Given the description of an element on the screen output the (x, y) to click on. 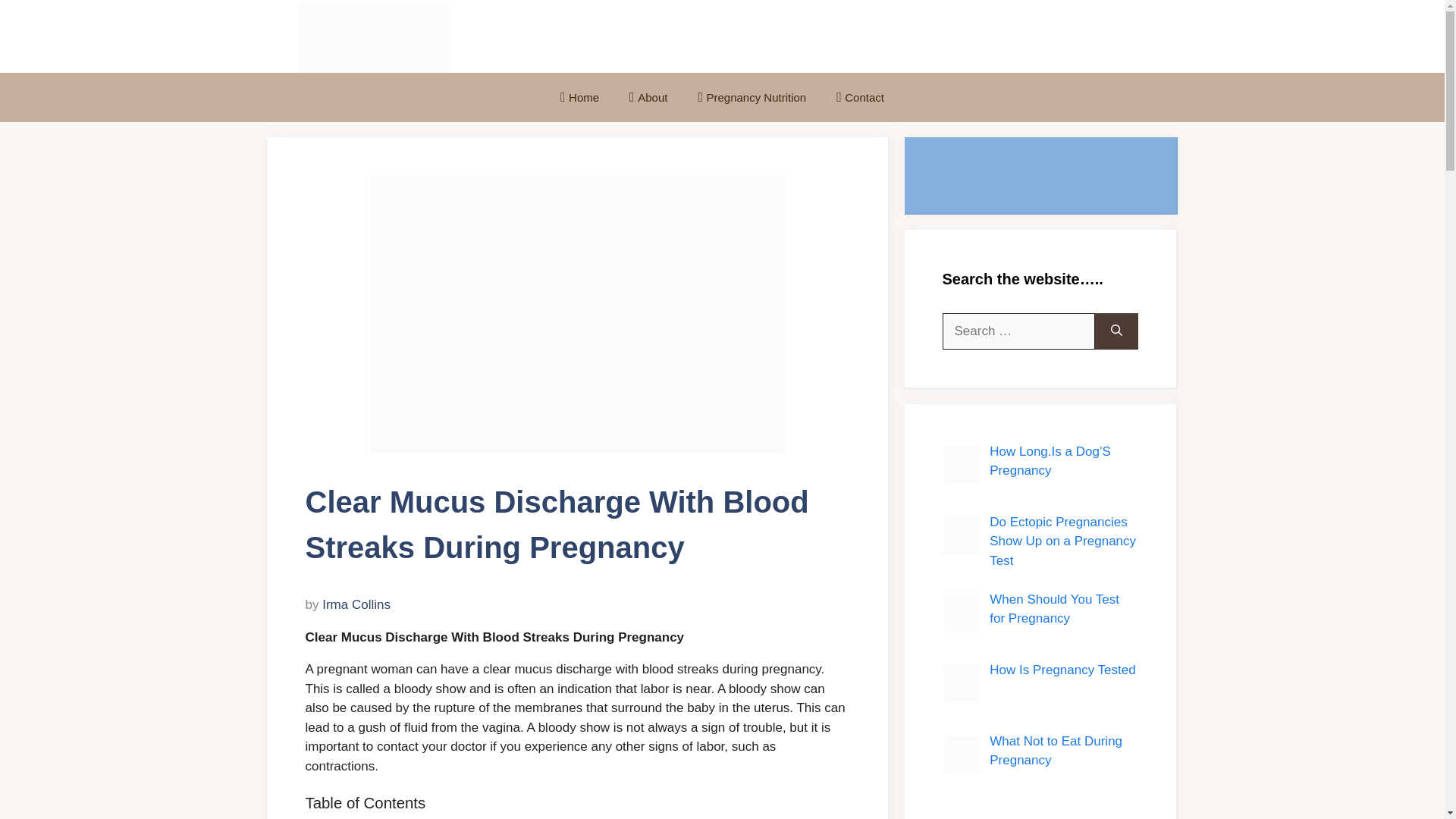
Irma Collins (355, 604)
Contact (860, 97)
Clear Mucus Discharge With Blood Streaks During Pregnancy (577, 314)
Pregnancy Nutrition (751, 97)
Home (579, 97)
About (648, 97)
View all posts by Irma Collins (355, 604)
